Given the description of an element on the screen output the (x, y) to click on. 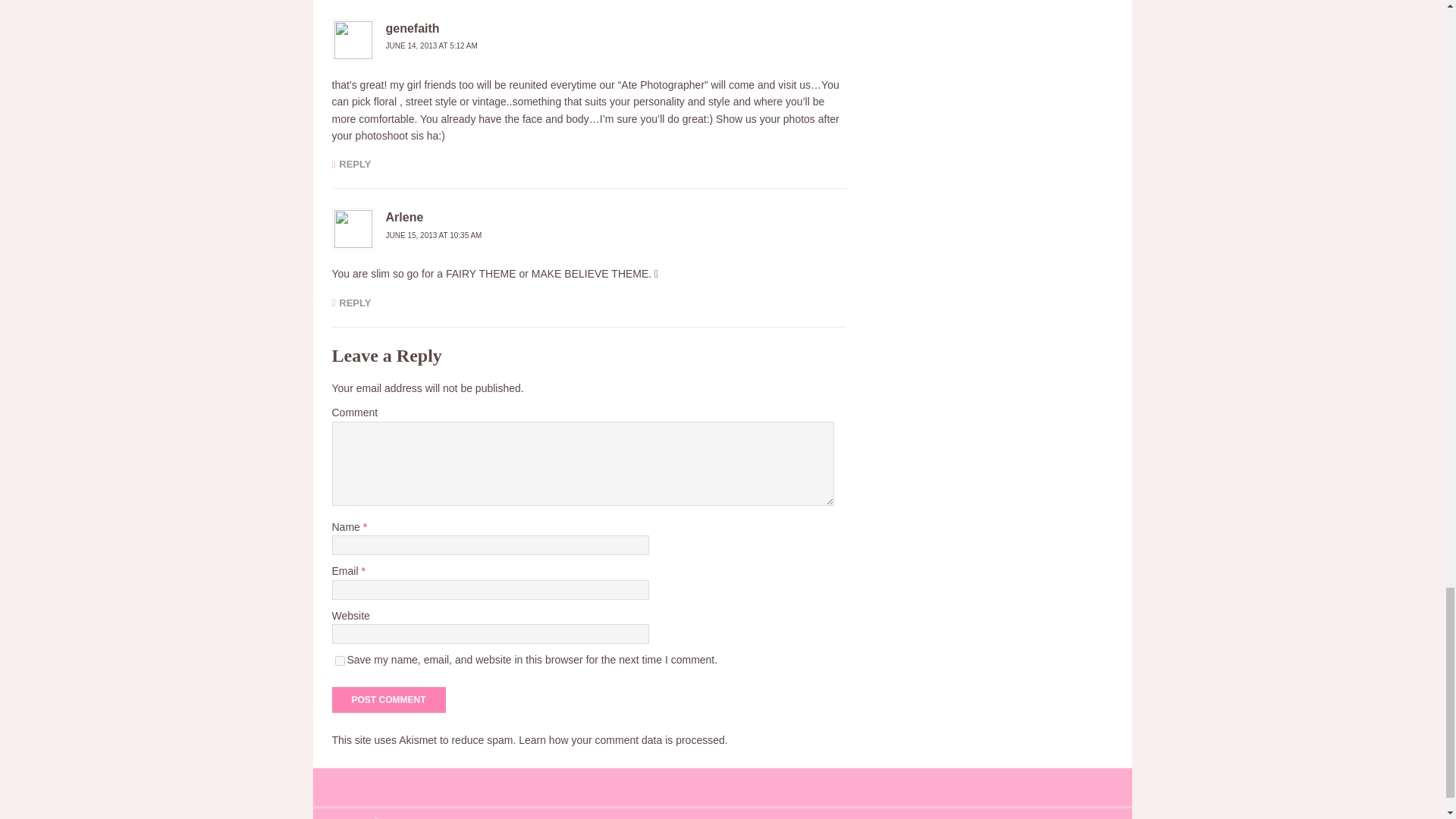
Post Comment (388, 699)
yes (339, 660)
